Given the description of an element on the screen output the (x, y) to click on. 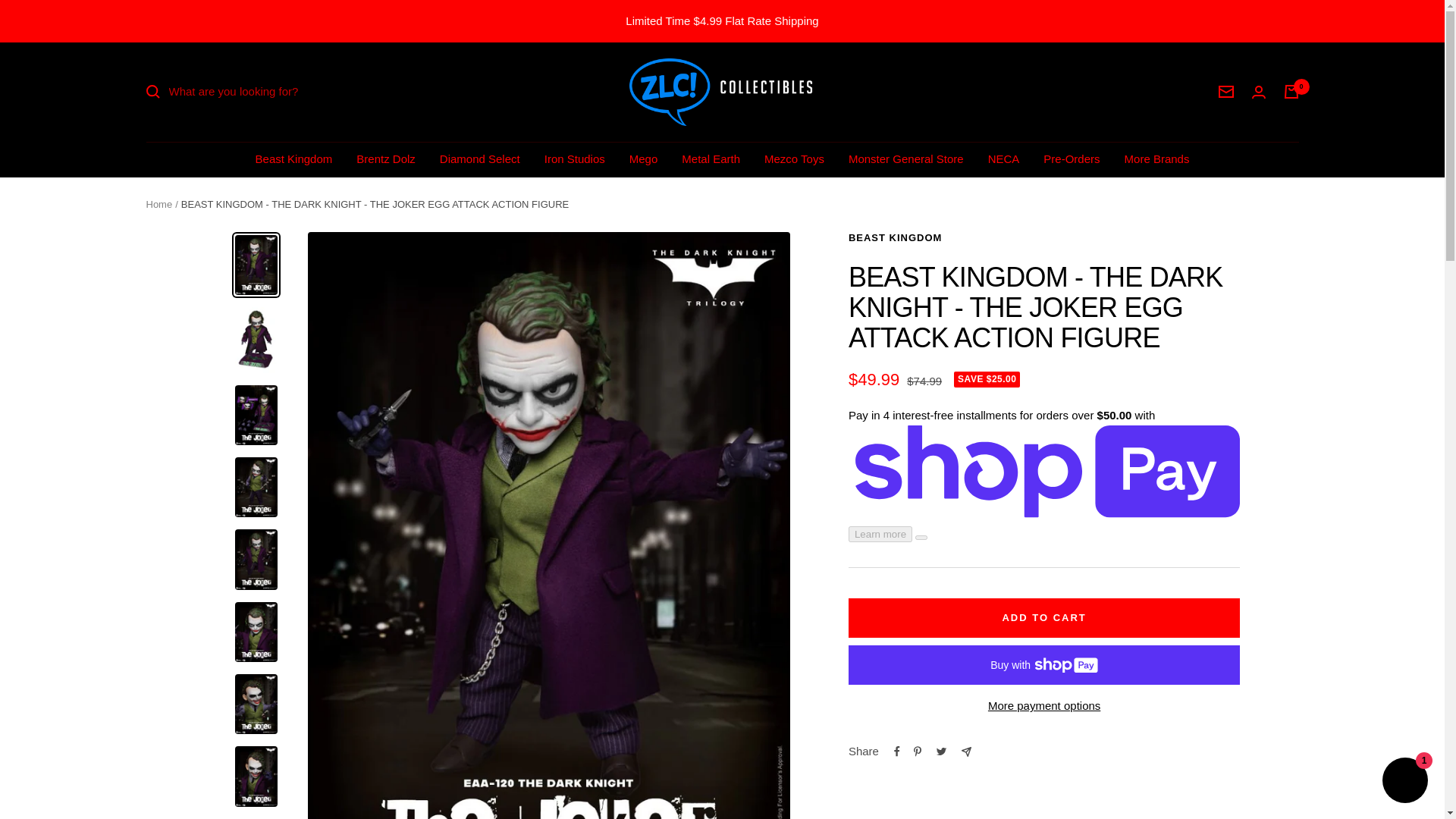
Brentz Dolz (385, 158)
Iron Studios (574, 158)
Newsletter (1225, 91)
Metal Earth (710, 158)
Pre-Orders (1071, 158)
Monster General Store (905, 158)
Shopify online store chat (1404, 781)
Beast Kingdom (294, 158)
0 (1290, 91)
More Brands (1156, 158)
Mego (643, 158)
Mezco Toys (794, 158)
Zlc Collectibles (721, 92)
Diamond Select (479, 158)
Home (158, 204)
